Given the description of an element on the screen output the (x, y) to click on. 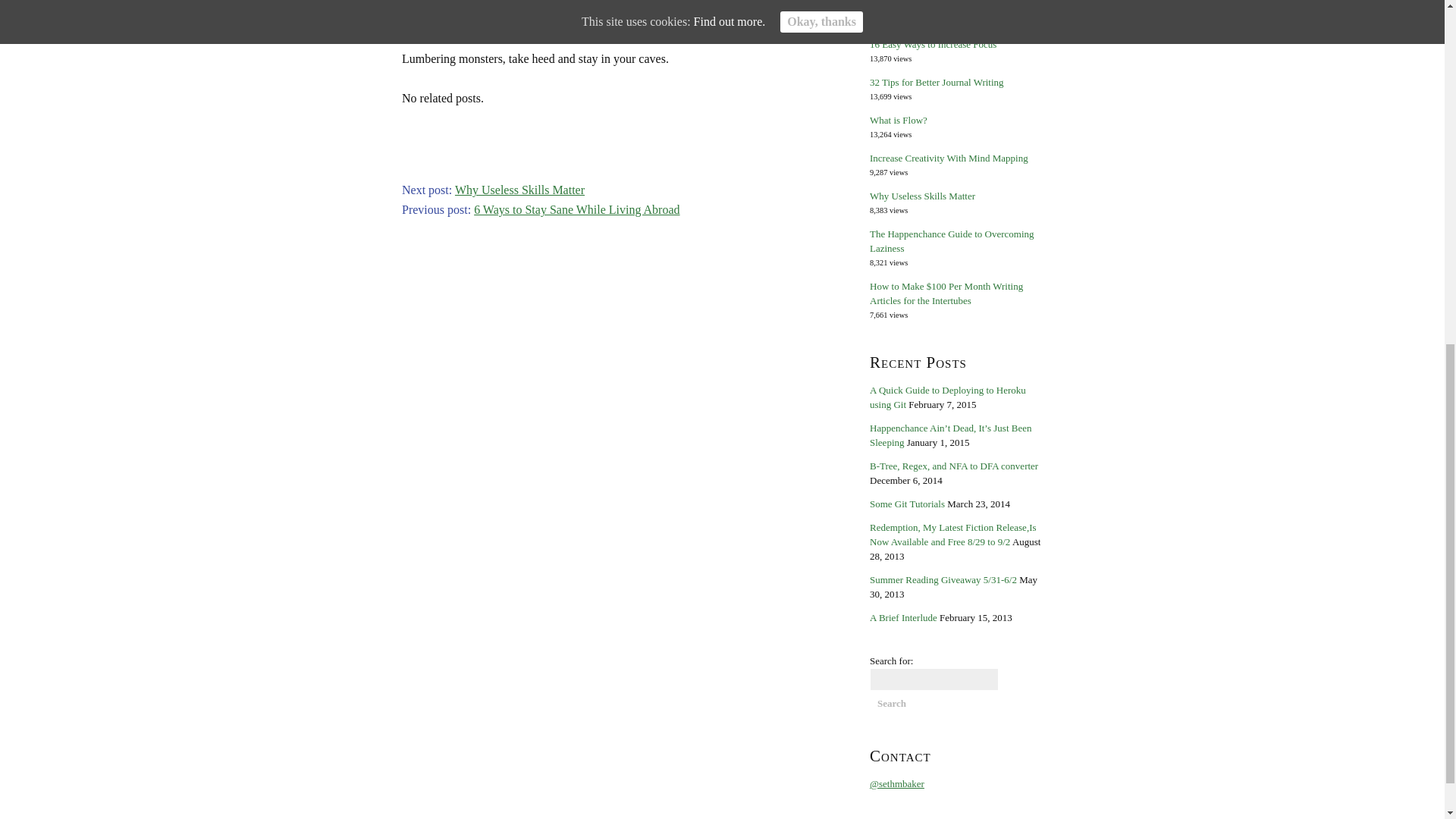
16 Ways to Increase Creativity and Generate Clever Ideas (938, 6)
Search (891, 703)
Increase Creativity With Mind Mapping (948, 157)
Why Useless Skills Matter (519, 189)
A Brief Interlude (903, 617)
16 Easy Ways to Increase Focus (932, 43)
The Happenchance Guide to Overcoming Laziness (951, 240)
32 Tips for Better Journal Writing (936, 81)
B-Tree, Regex, and NFA to DFA converter (953, 465)
What is Flow? (898, 120)
6 Ways to Stay Sane While Living Abroad (576, 209)
Why Useless Skills Matter (922, 195)
Search (891, 703)
A Quick Guide to Deploying to Heroku using Git (947, 397)
Some Git Tutorials (906, 503)
